Given the description of an element on the screen output the (x, y) to click on. 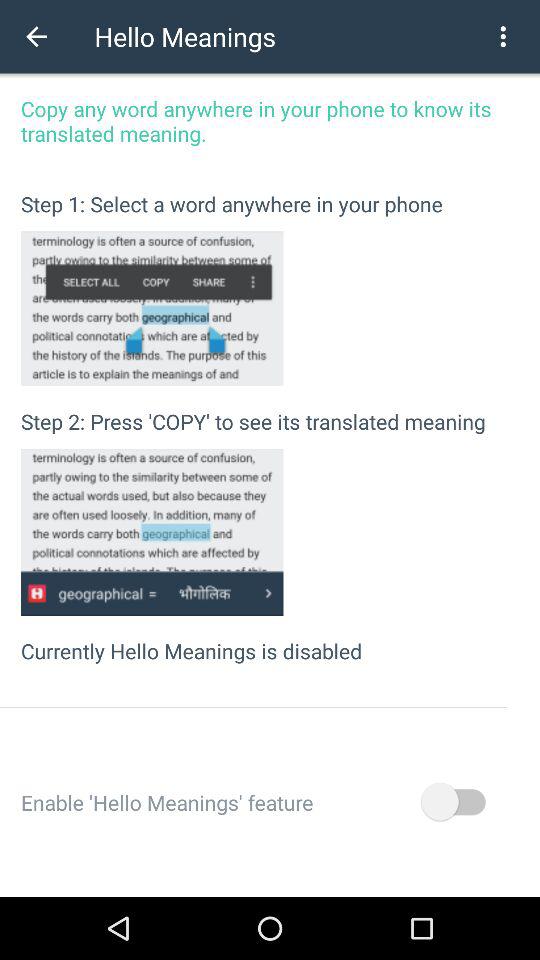
turn on icon at the bottom right corner (452, 802)
